Given the description of an element on the screen output the (x, y) to click on. 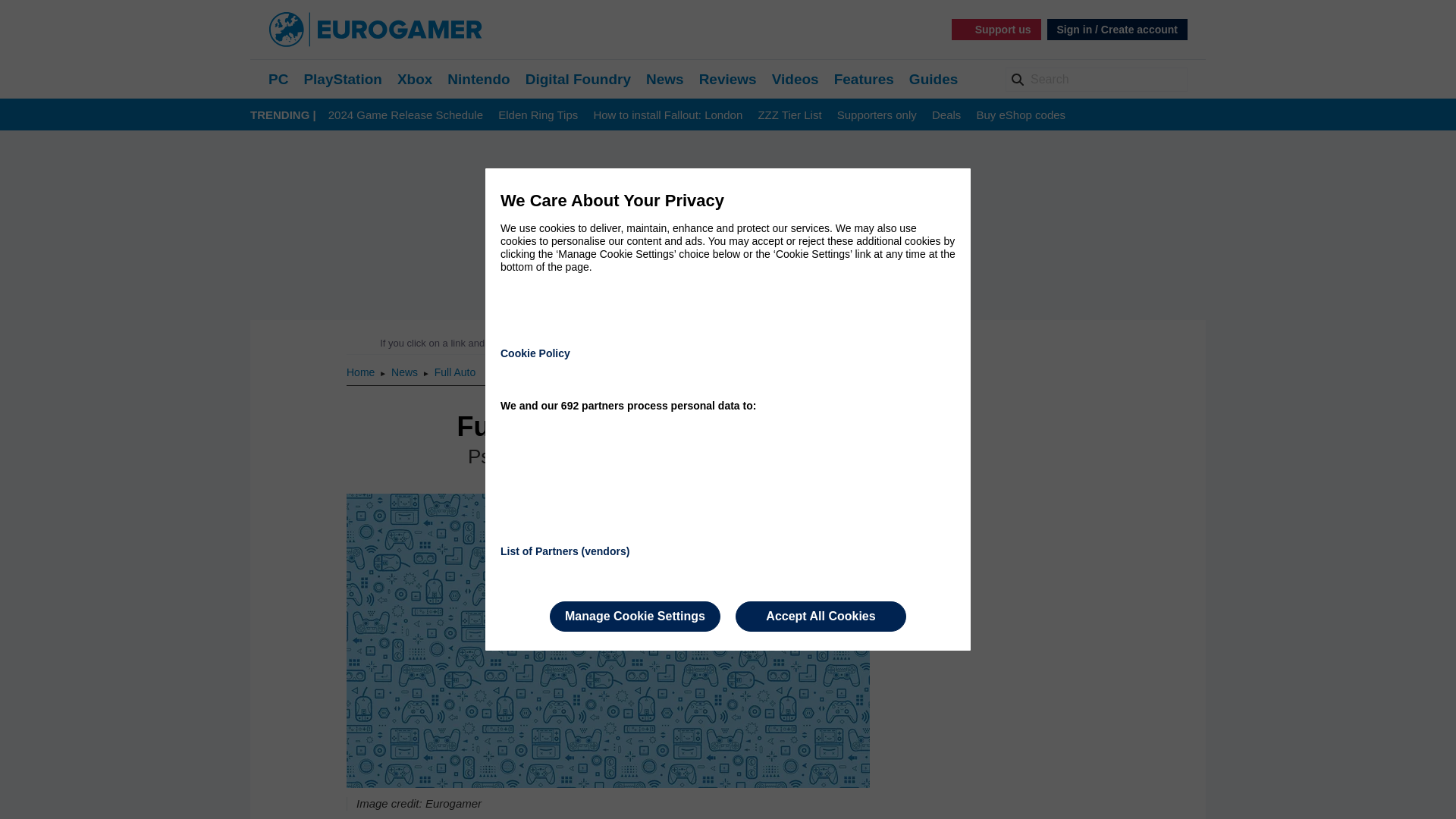
Videos (794, 78)
Digital Foundry (577, 78)
Xbox (414, 78)
News (405, 372)
Reviews (727, 78)
2024 Game Release Schedule (406, 114)
Deals (945, 114)
Read our editorial policy (781, 342)
News (405, 372)
Supporters only (877, 114)
Support us (996, 29)
2024 Game Release Schedule (406, 114)
News (665, 78)
Features (863, 78)
PlayStation (341, 78)
